Given the description of an element on the screen output the (x, y) to click on. 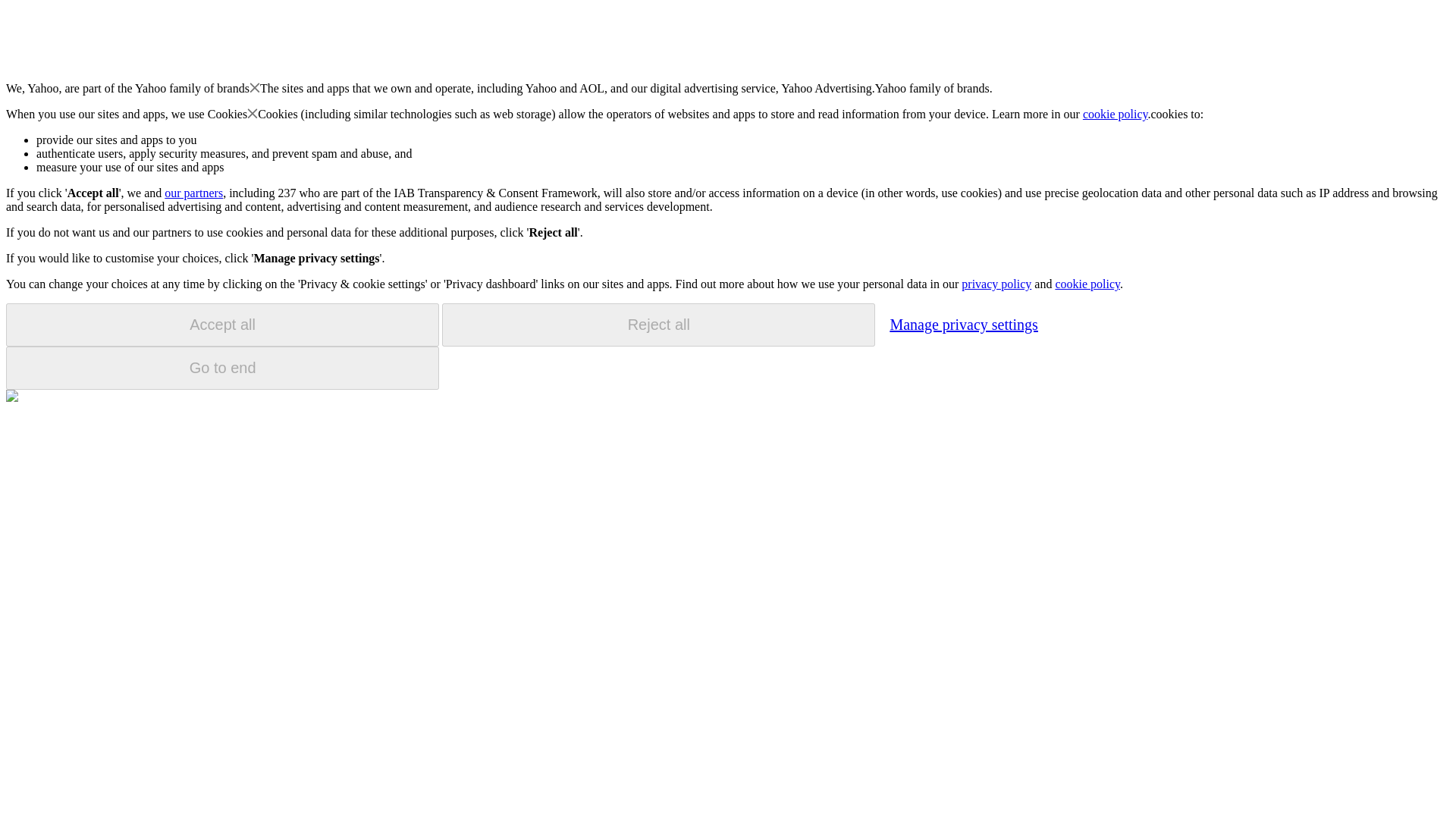
Manage privacy settings (963, 323)
cookie policy (1086, 283)
Go to end (222, 367)
Accept all (222, 324)
privacy policy (995, 283)
our partners (193, 192)
cookie policy (1115, 113)
Reject all (658, 324)
